Given the description of an element on the screen output the (x, y) to click on. 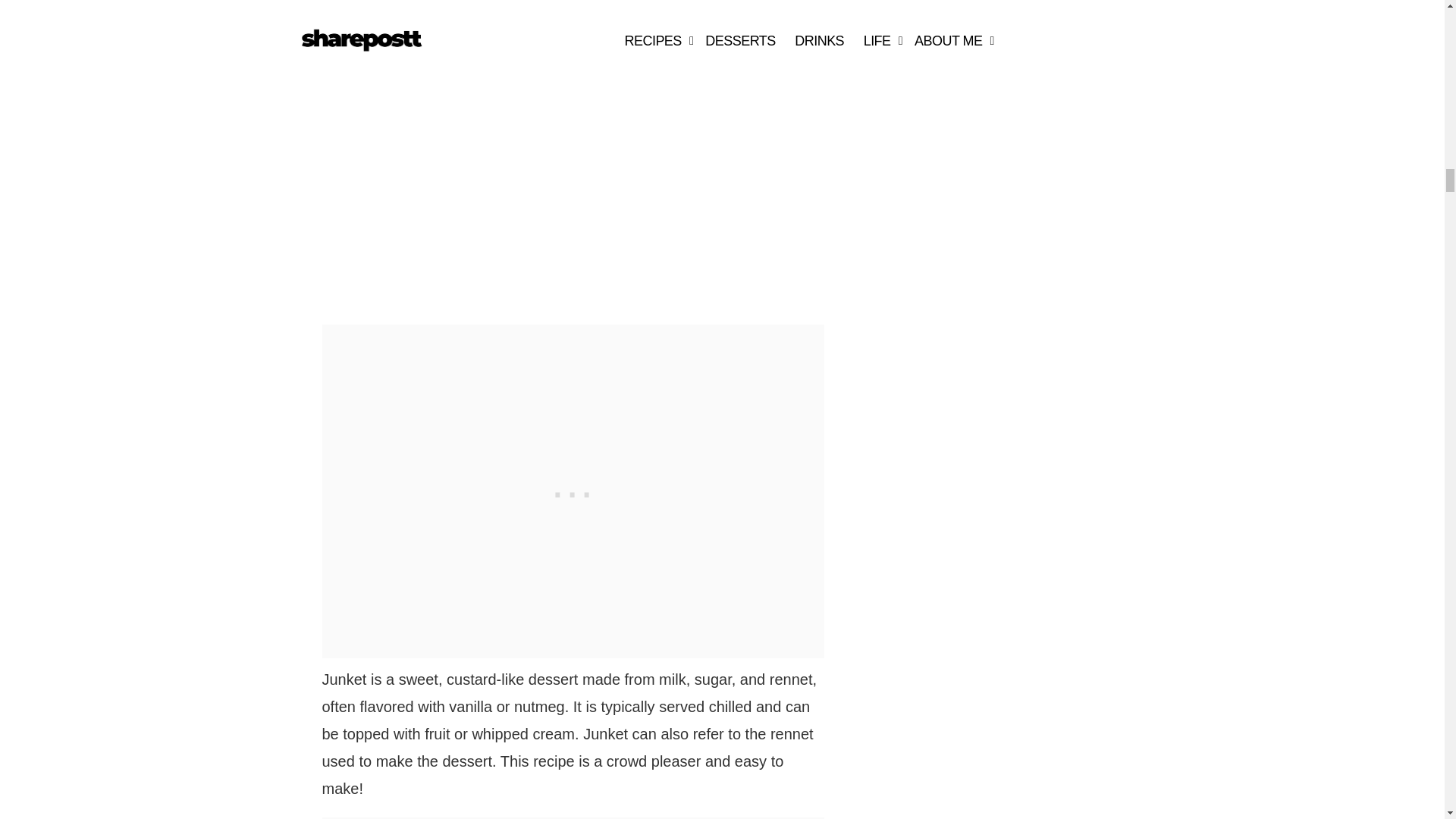
Devonshire Junket recipe (491, 150)
